Given the description of an element on the screen output the (x, y) to click on. 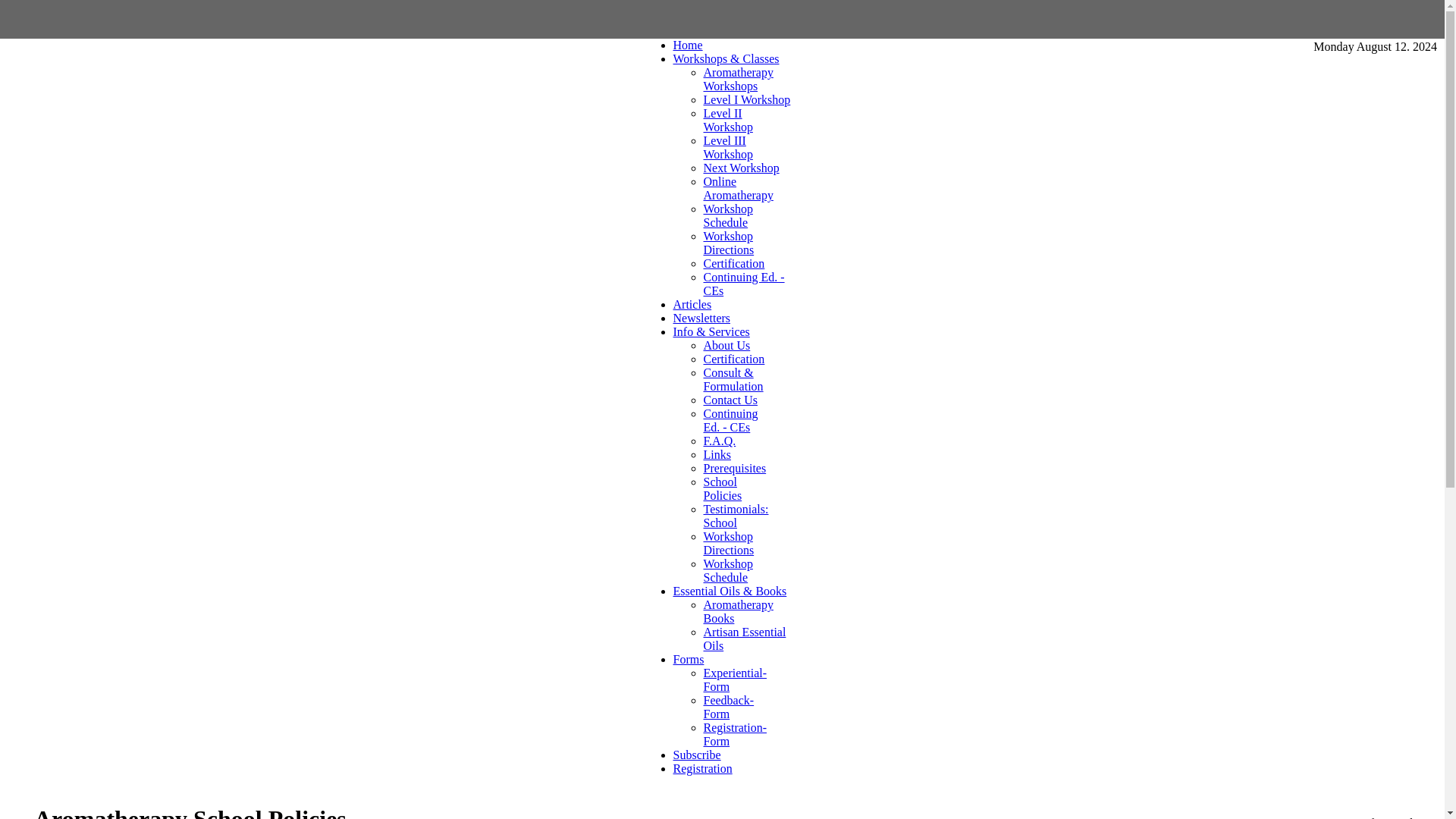
Aromatherapy Certification (734, 358)
Next workshop at the Aromatherapy School (740, 167)
The Aromatherapy School (687, 44)
Contact the Aromatherapy School (730, 399)
Testimonials: School (735, 515)
F.A.Q. (719, 440)
Faq page at  the Aromatherapy School (719, 440)
Forms (688, 658)
Aromatherapy Workshops at the Aromatherapy School (725, 58)
Artisan Essential Oils (744, 638)
